Given the description of an element on the screen output the (x, y) to click on. 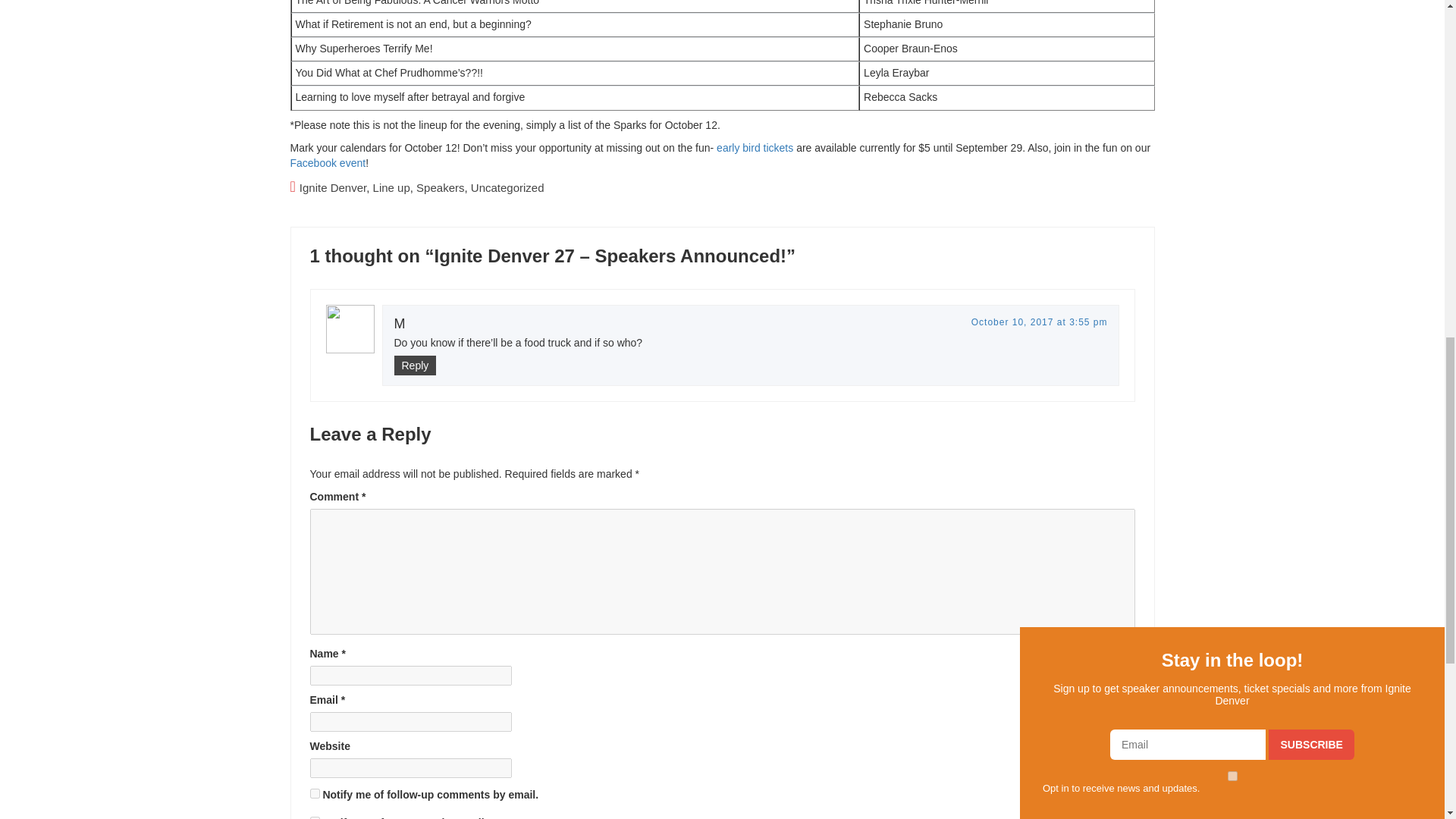
Facebook event (327, 162)
Uncategorized (507, 187)
Reply (415, 365)
Speakers (440, 187)
early bird tickets (754, 147)
Ignite Denver (332, 187)
Line up (391, 187)
subscribe (313, 793)
